Given the description of an element on the screen output the (x, y) to click on. 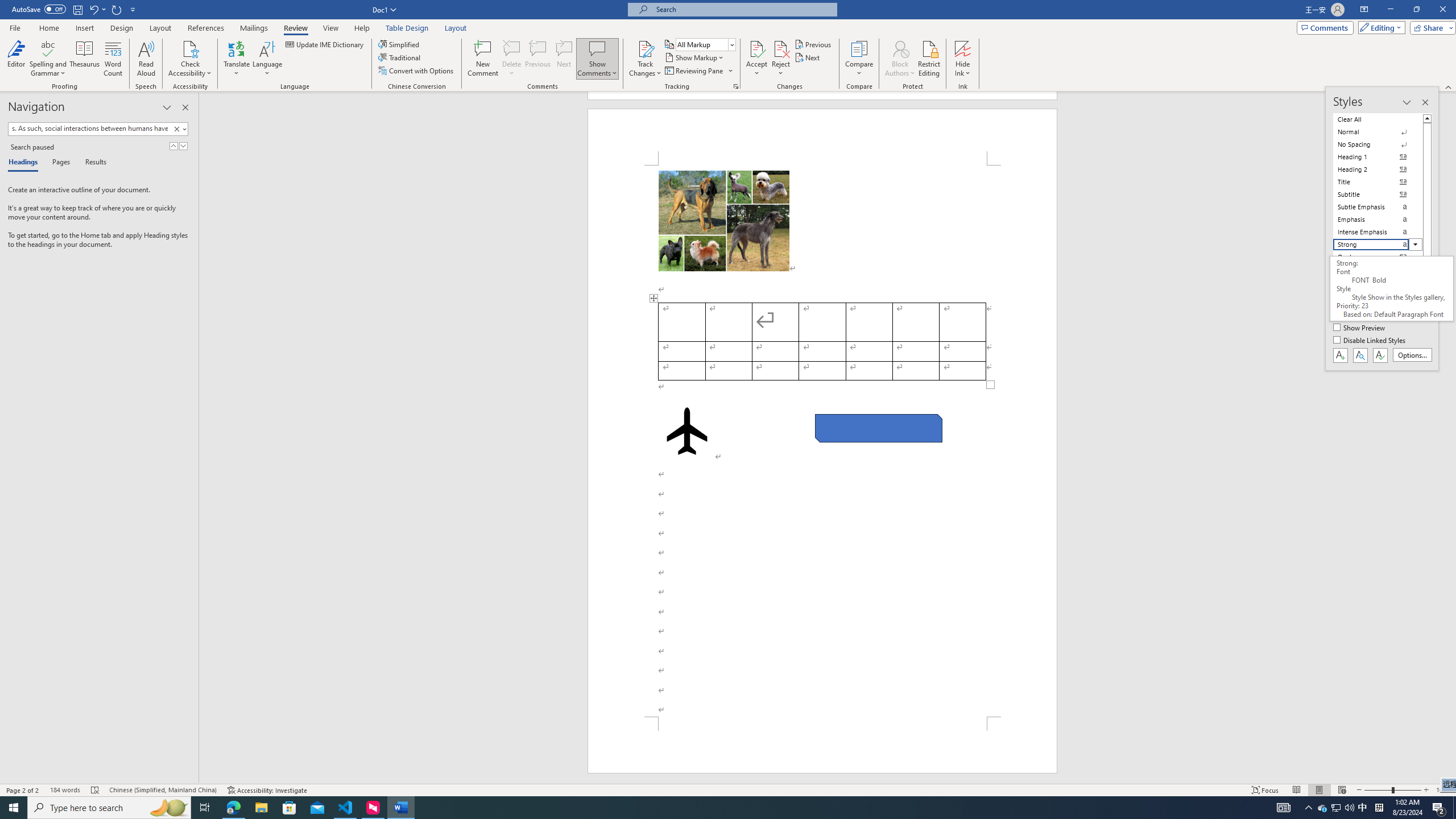
Hide Ink (962, 48)
Delete (511, 48)
Intense Emphasis (1377, 232)
Undo Style (92, 9)
Intense Reference (1377, 294)
Quote (1377, 256)
Options... (1412, 354)
Accessibility Checker Accessibility: Investigate (266, 790)
Thesaurus... (84, 58)
Headings (25, 162)
